Given the description of an element on the screen output the (x, y) to click on. 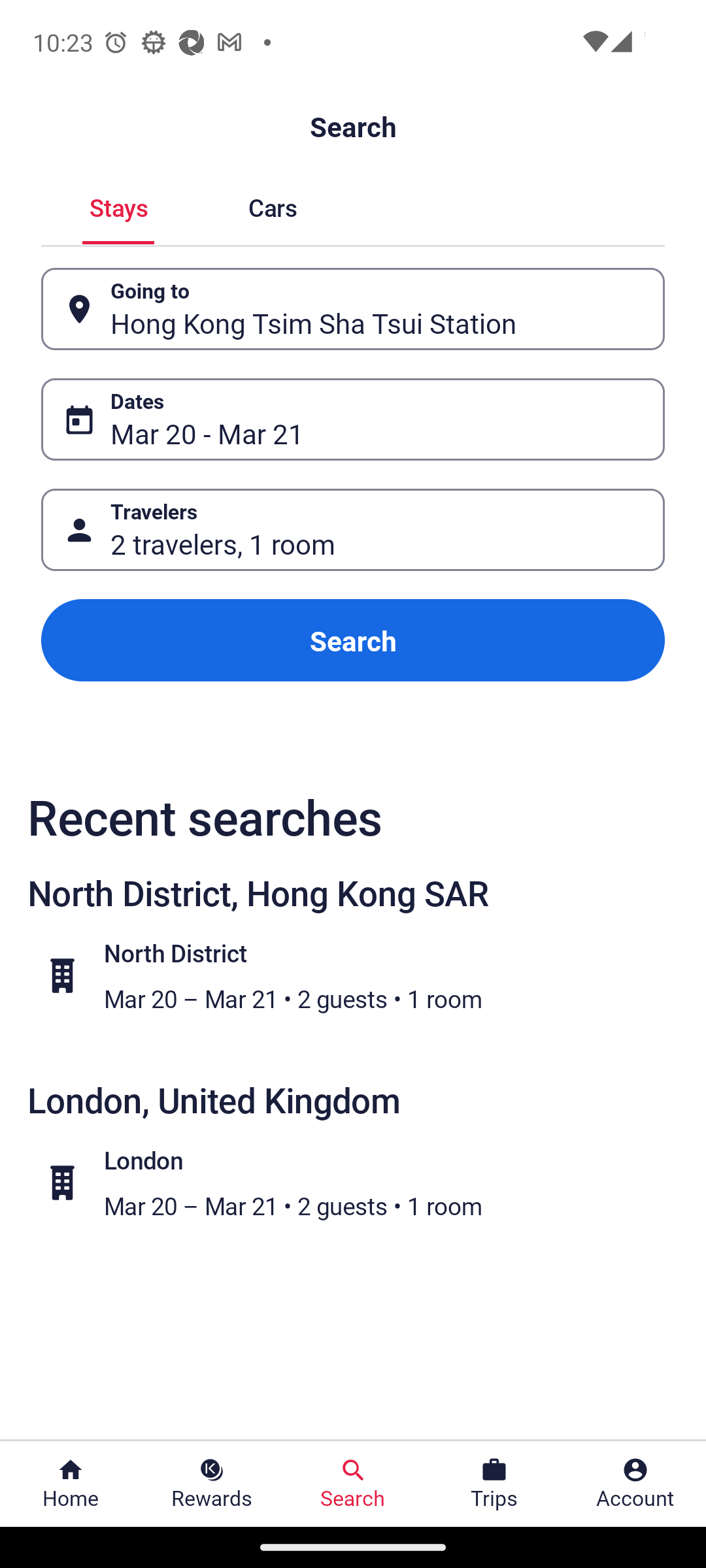
Cars (272, 205)
Going to Button Hong Kong Tsim Sha Tsui Station (352, 308)
Dates Button Mar 20 - Mar 21 (352, 418)
Travelers Button 2 travelers, 1 room (352, 529)
Search (352, 640)
North District Mar 20 – Mar 21 • 2 guests • 1 room (363, 974)
London Mar 20 – Mar 21 • 2 guests • 1 room (363, 1181)
Home Home Button (70, 1483)
Rewards Rewards Button (211, 1483)
Trips Trips Button (493, 1483)
Account Profile. Button (635, 1483)
